Given the description of an element on the screen output the (x, y) to click on. 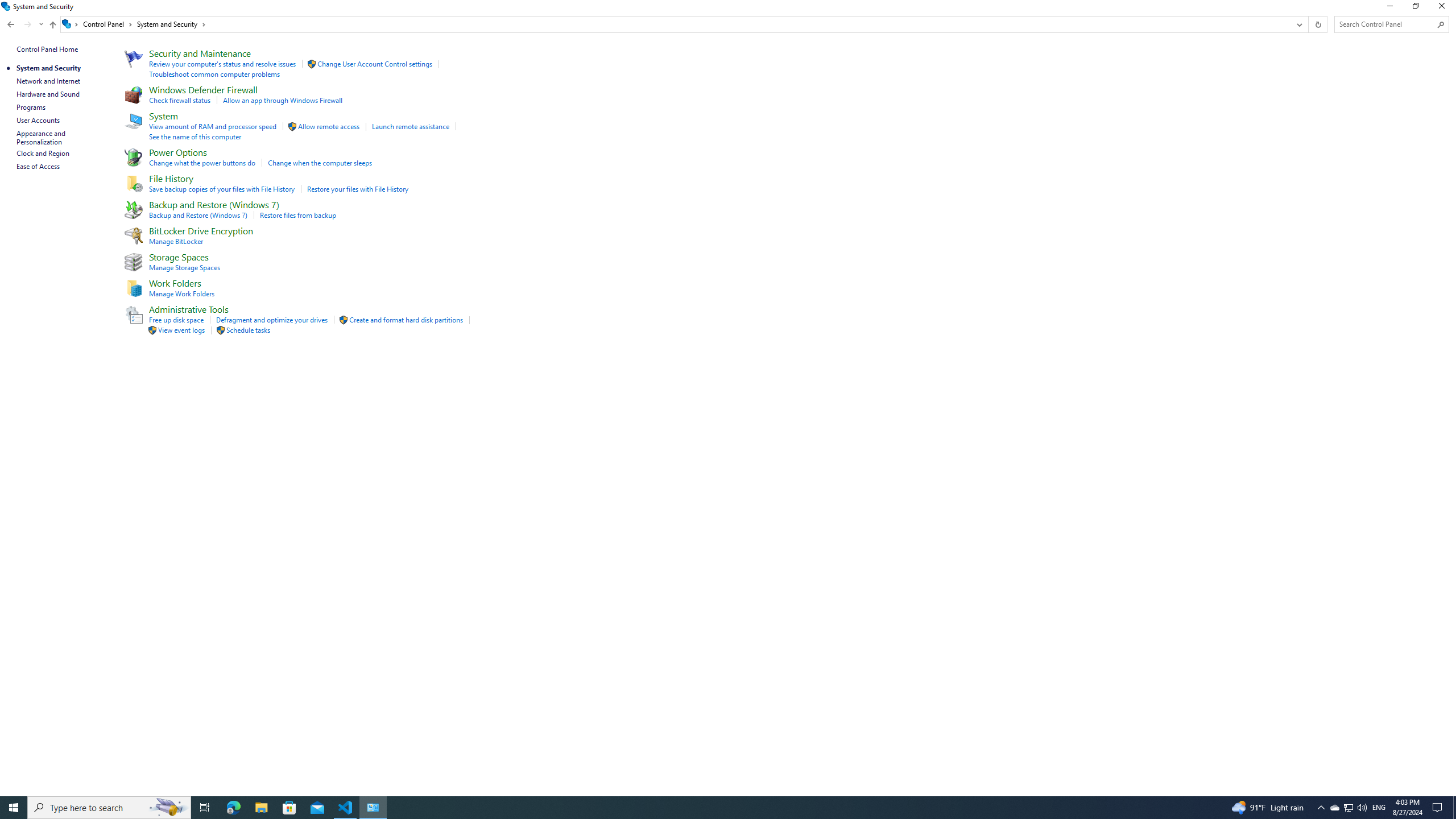
Running applications (706, 807)
Storage Spaces (178, 256)
Ease of Access (38, 166)
File Explorer (261, 807)
Icon (220, 329)
System (163, 115)
Tray Input Indicator - English (United States) (1378, 807)
Troubleshoot common computer problems (214, 73)
Create and format hard disk partitions (405, 319)
Appearance and Personalization (42, 137)
Manage BitLocker (175, 241)
Hardware and Sound (48, 94)
System (6, 6)
Check firewall status (179, 99)
Launch remote assistance (410, 126)
